Given the description of an element on the screen output the (x, y) to click on. 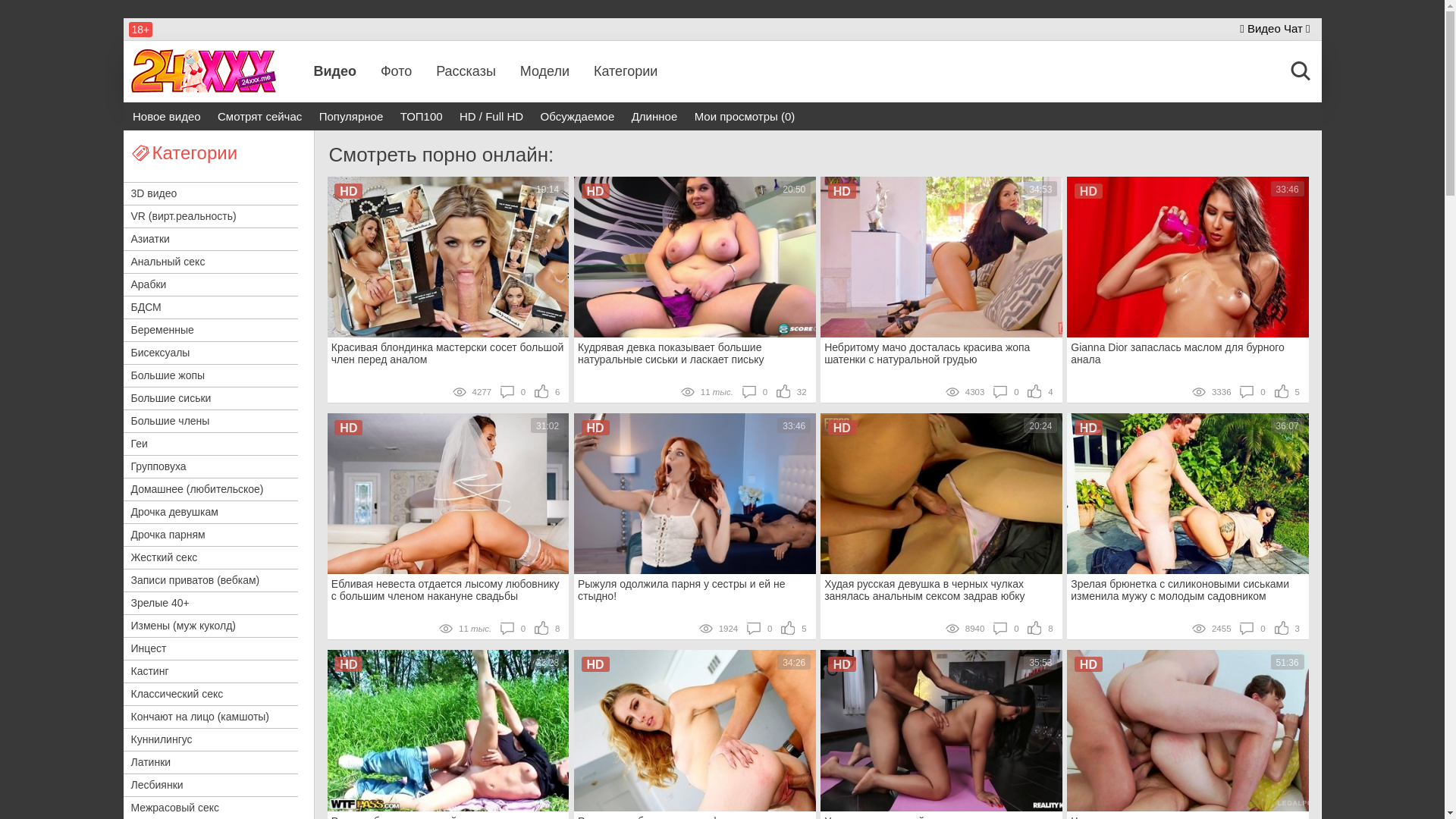
HD / Full HD Element type: text (491, 116)
